Given the description of an element on the screen output the (x, y) to click on. 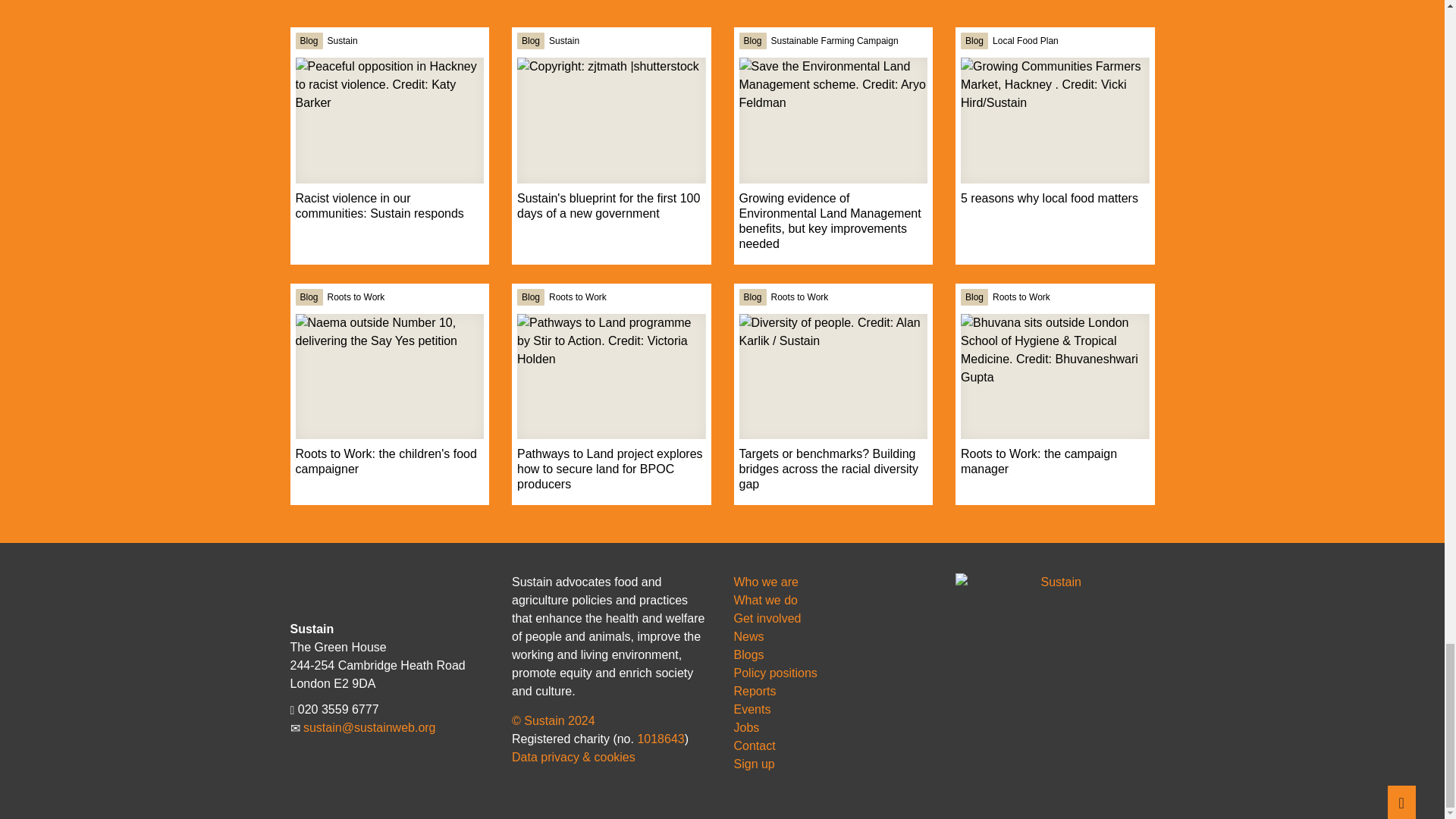
Twitter (304, 588)
Naema outside Number 10, delivering the Say Yes petition (389, 376)
